Given the description of an element on the screen output the (x, y) to click on. 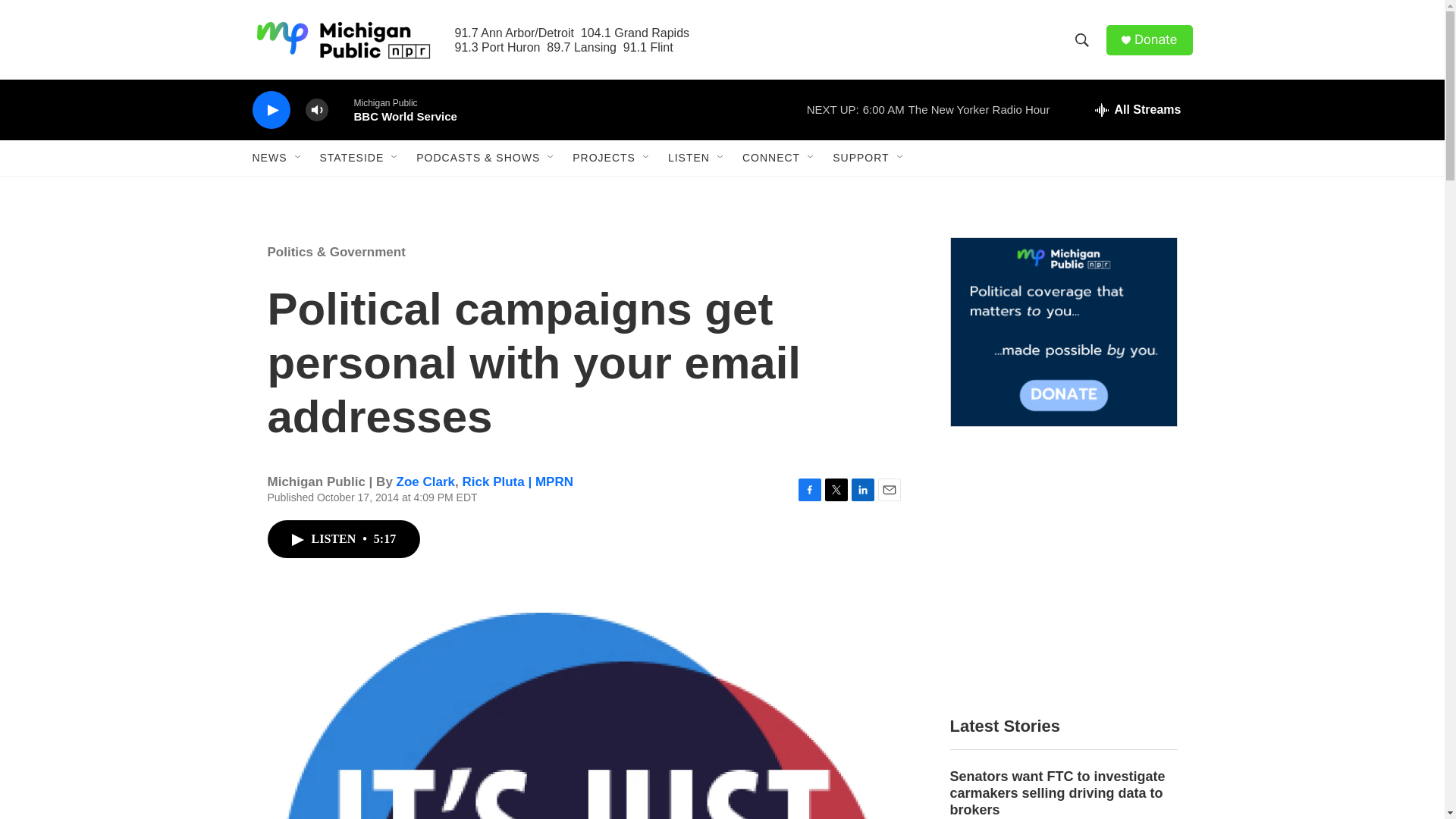
3rd party ad content (1062, 570)
